Given the description of an element on the screen output the (x, y) to click on. 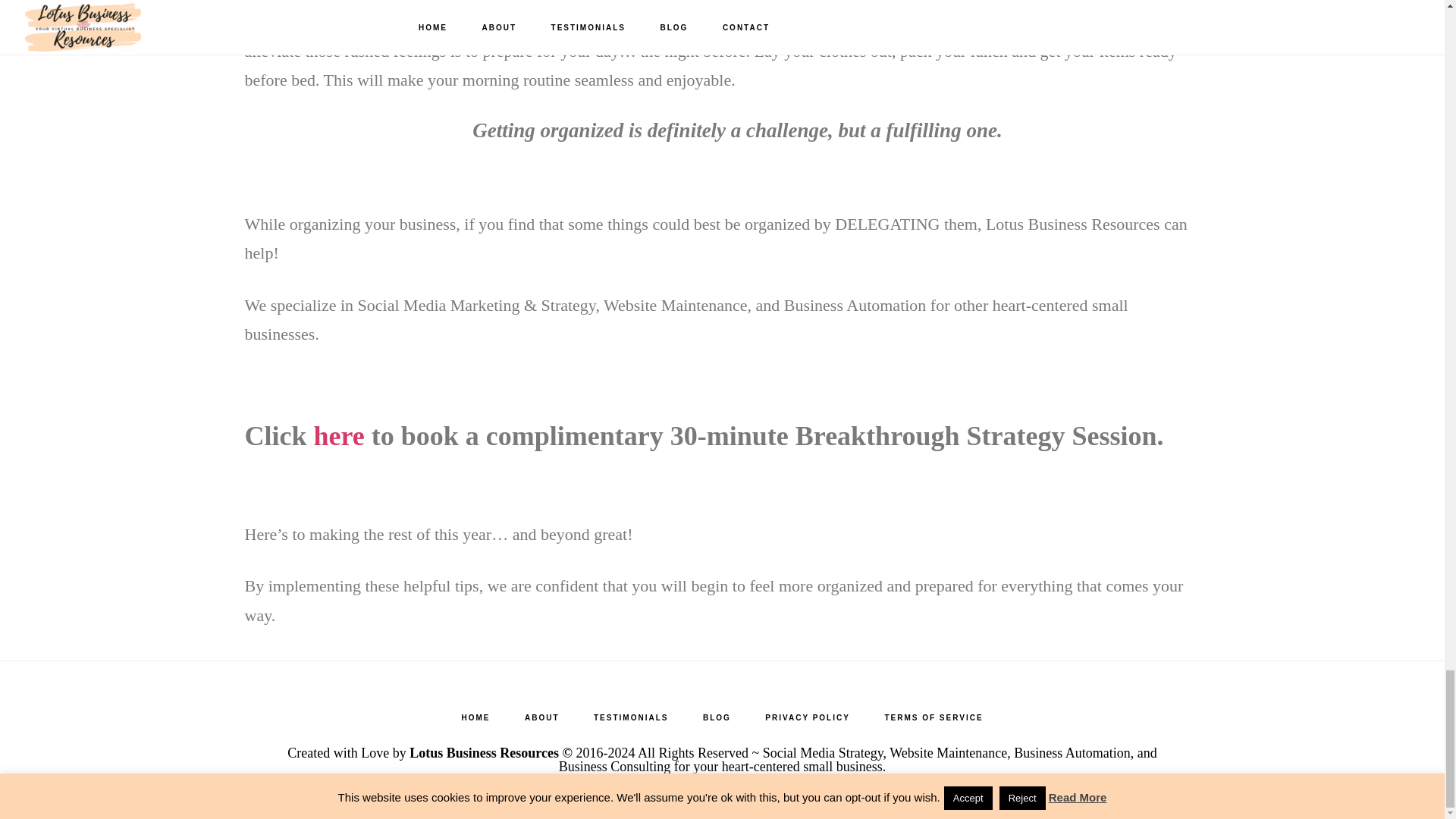
TESTIMONIALS (630, 717)
TERMS OF SERVICE (933, 717)
here (339, 435)
HOME (475, 717)
PRIVACY POLICY (806, 717)
BLOG (716, 717)
ABOUT (542, 717)
